Given the description of an element on the screen output the (x, y) to click on. 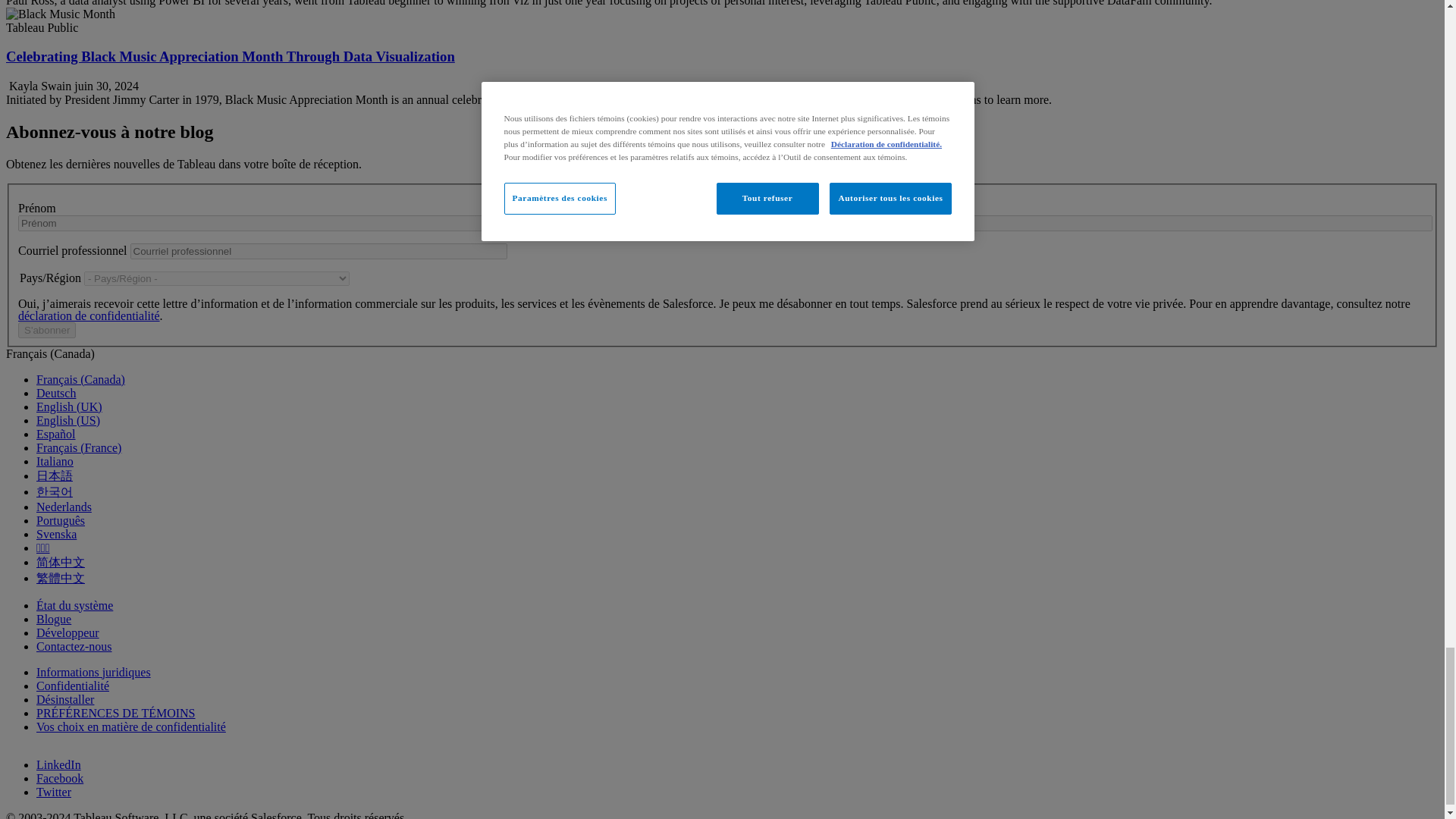
S'abonner (46, 330)
